Given the description of an element on the screen output the (x, y) to click on. 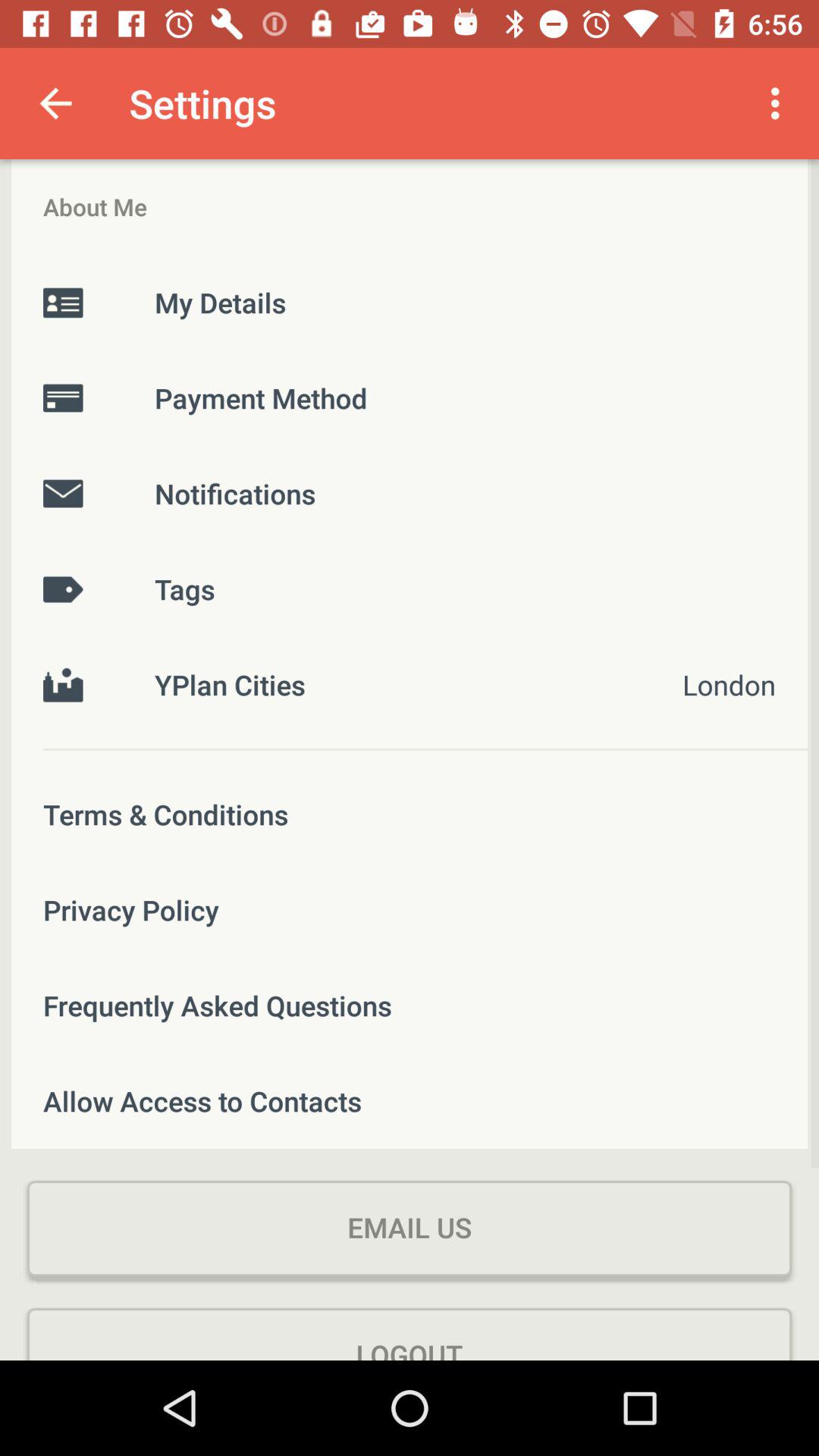
swipe until the logout (409, 1334)
